Given the description of an element on the screen output the (x, y) to click on. 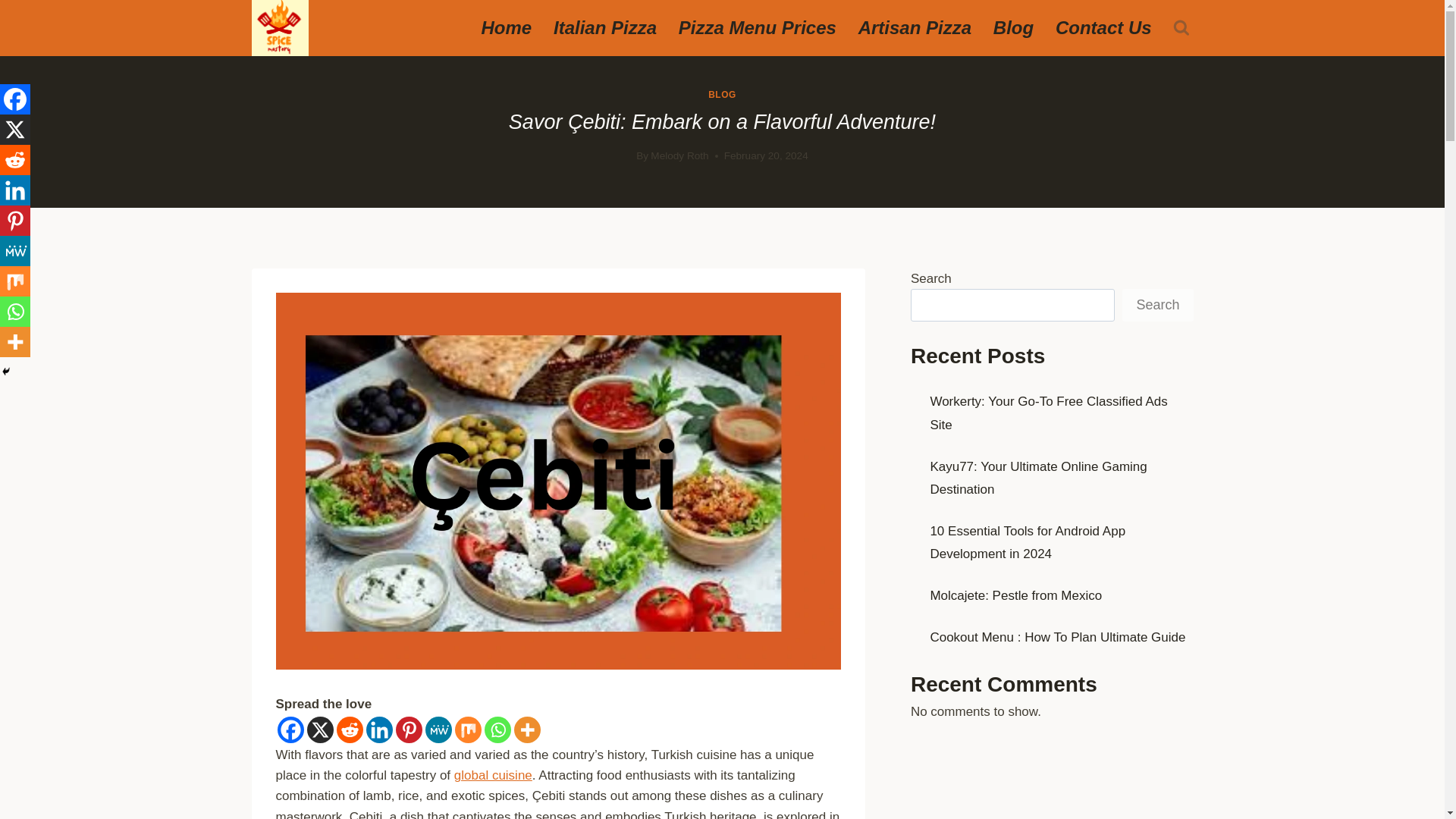
Cookout Menu : How To Plan Ultimate Guide (1057, 636)
Mix (467, 729)
Contact Us (1103, 28)
X (15, 129)
Molcajete: Pestle from Mexico  (1017, 595)
Linkedin (15, 190)
10 Essential Tools for Android App Development in 2024 (1027, 542)
Whatsapp (497, 729)
MeWe (438, 729)
Facebook (291, 729)
Reddit (349, 729)
X (319, 729)
Home (505, 28)
Blog (1012, 28)
Melody Roth (678, 155)
